Given the description of an element on the screen output the (x, y) to click on. 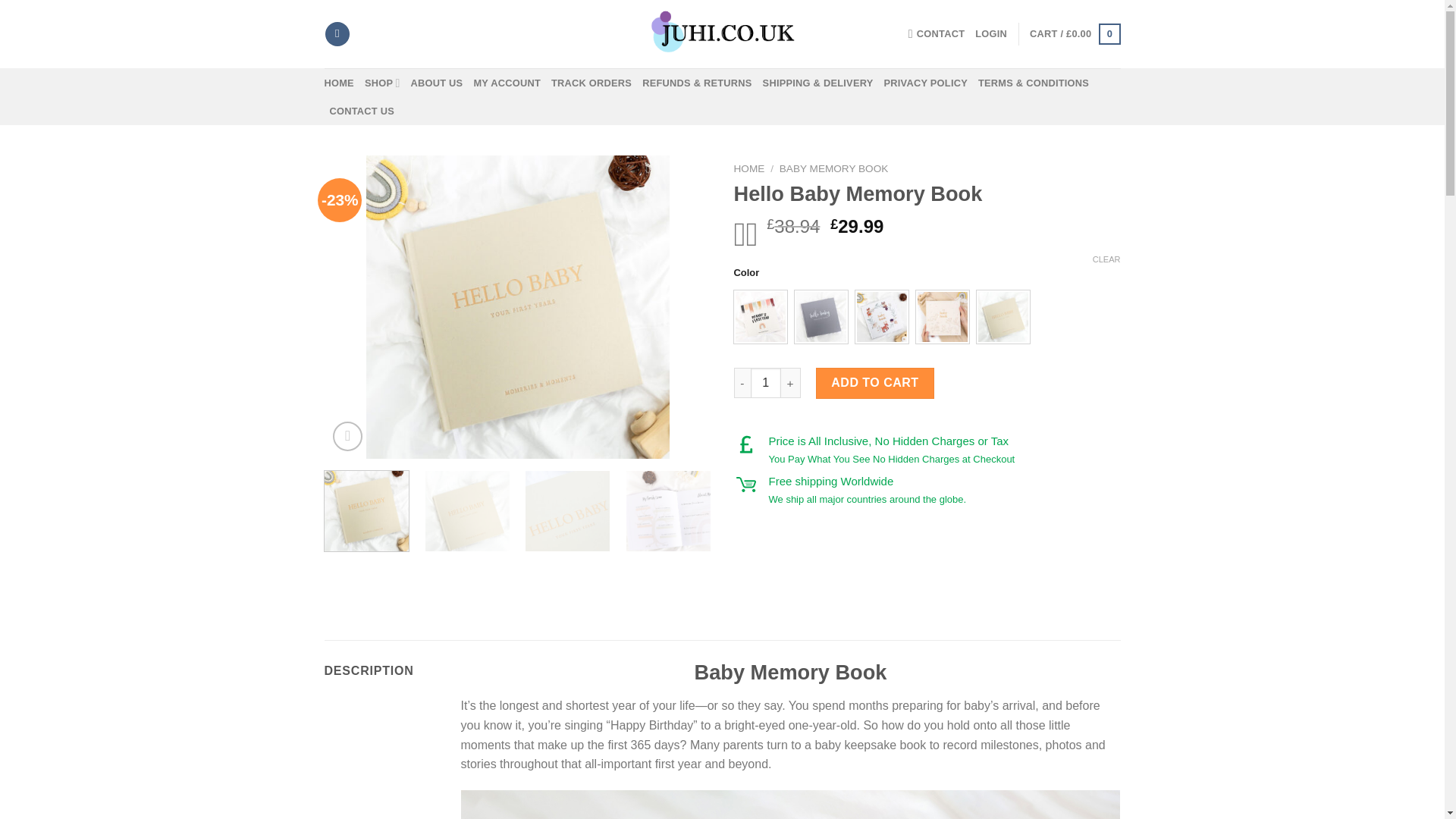
CONTACT (936, 33)
Zoom (347, 436)
LOGIN (991, 33)
BB2305ZE-005 (1002, 316)
White (882, 316)
yellow (942, 316)
1 (765, 382)
Juhi - A store full of offers (721, 33)
Cart (1074, 34)
Grey (820, 316)
Beige (760, 316)
SHOP (382, 82)
HOME (338, 83)
